Given the description of an element on the screen output the (x, y) to click on. 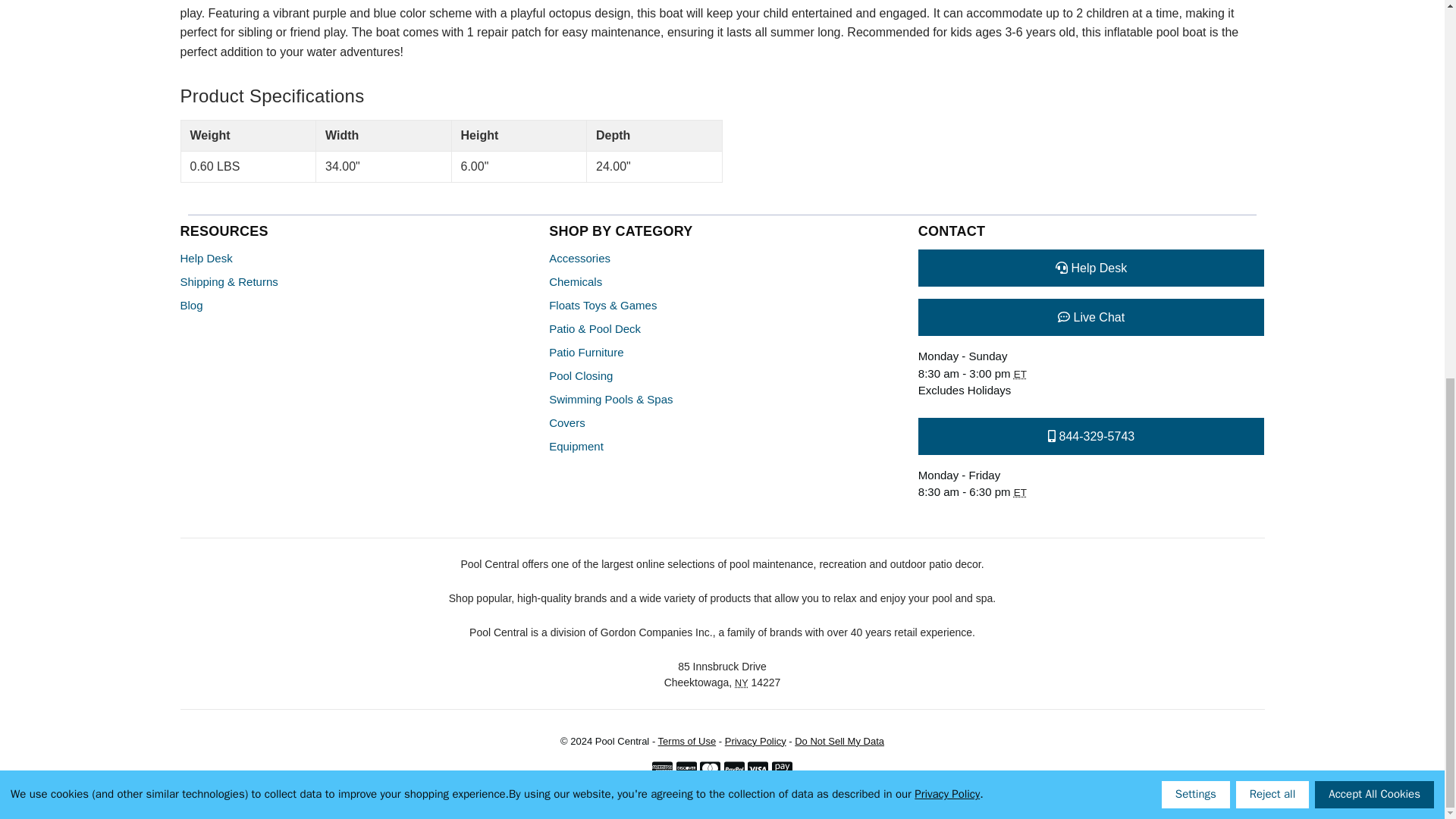
Eastern Time (1019, 374)
Eastern Time (1019, 491)
New York (741, 683)
